Given the description of an element on the screen output the (x, y) to click on. 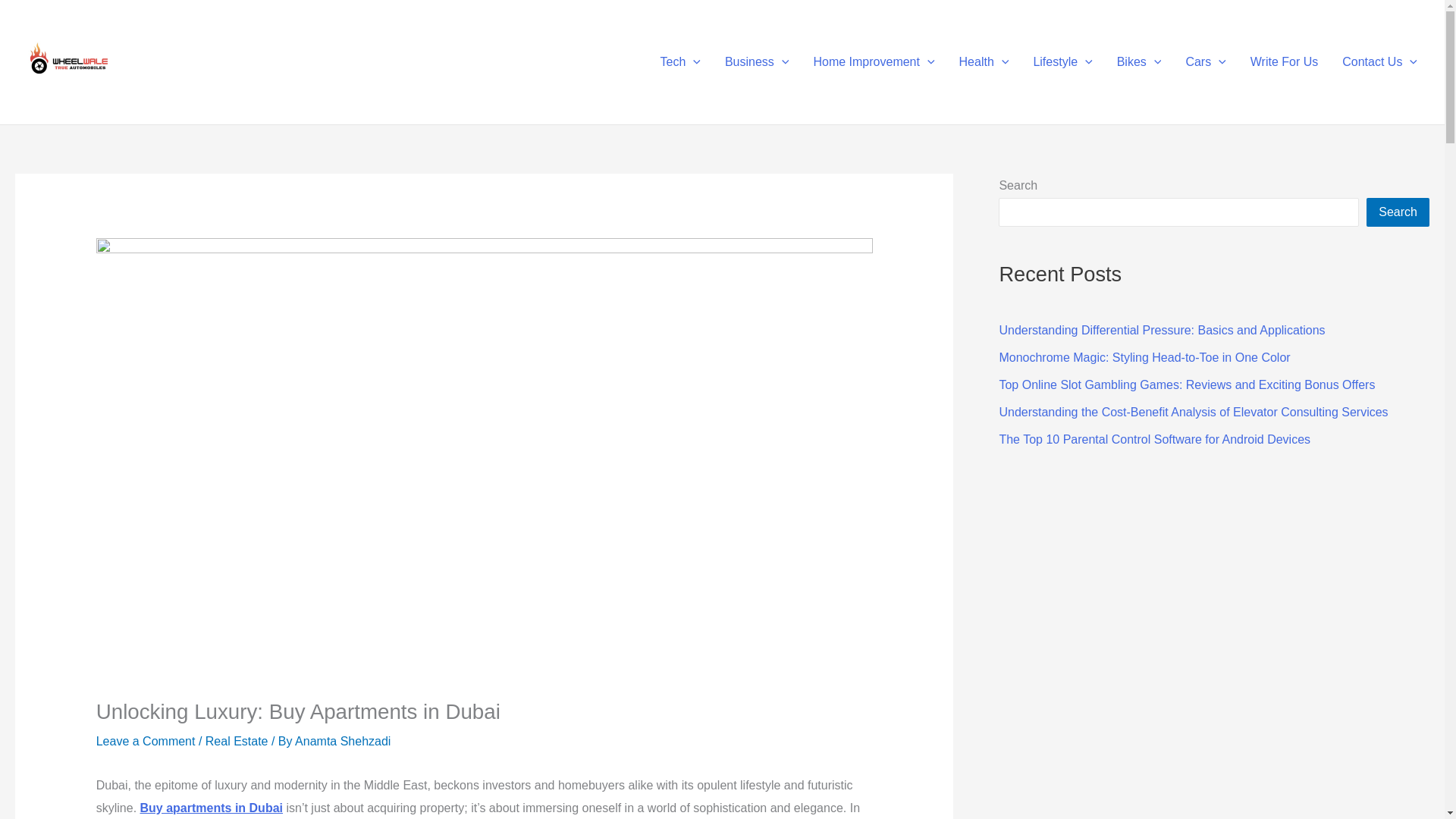
Lifestyle (1061, 61)
Health (984, 61)
View all posts by Anamta Shehzadi (342, 740)
Tech (680, 61)
Home Improvement (873, 61)
Business (757, 61)
